Given the description of an element on the screen output the (x, y) to click on. 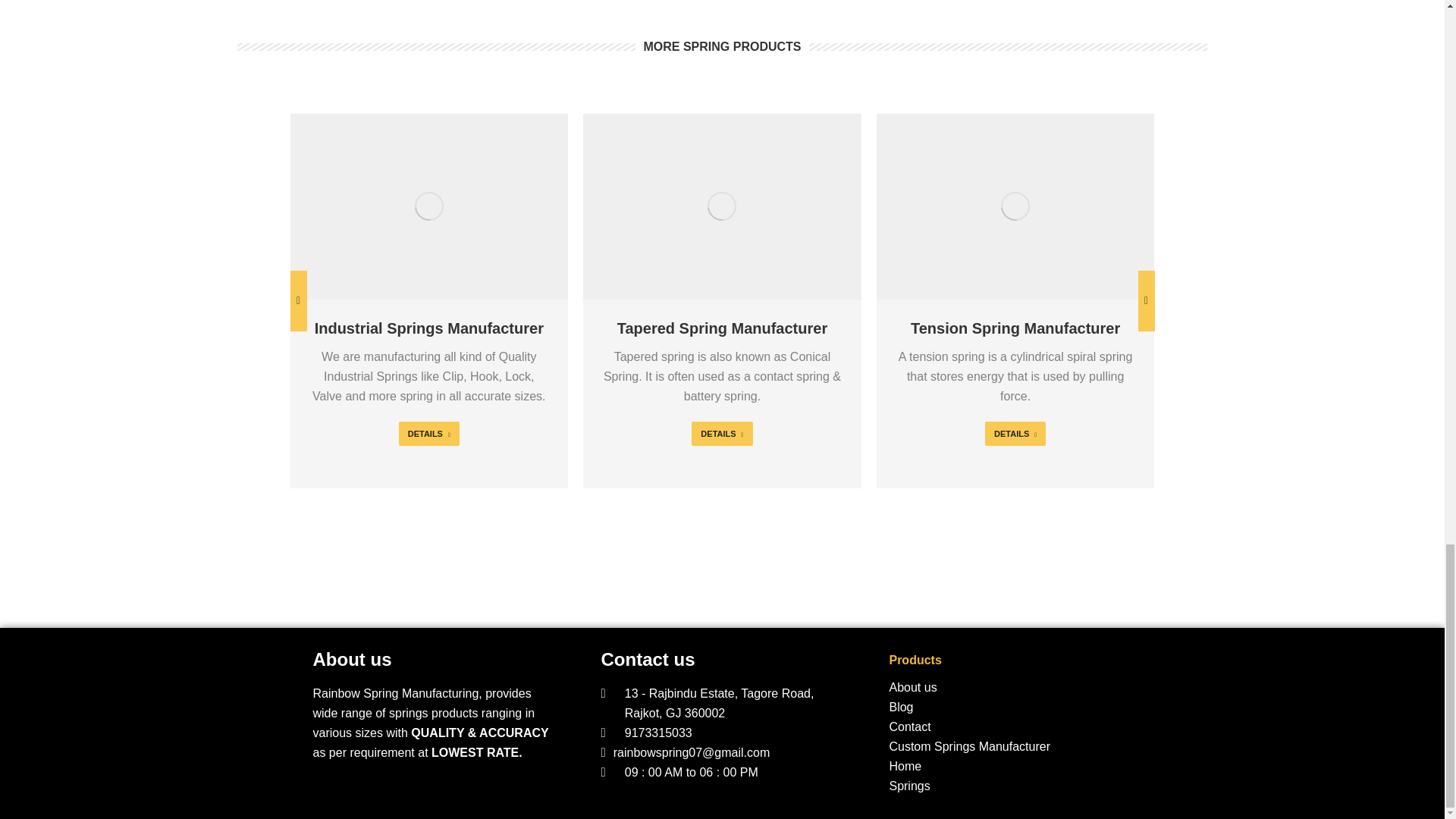
Tension Spring Manufacturer (1015, 328)
Tapered Spring Manufacturer (722, 328)
Industrial Springs Manufacturer (428, 328)
